Given the description of an element on the screen output the (x, y) to click on. 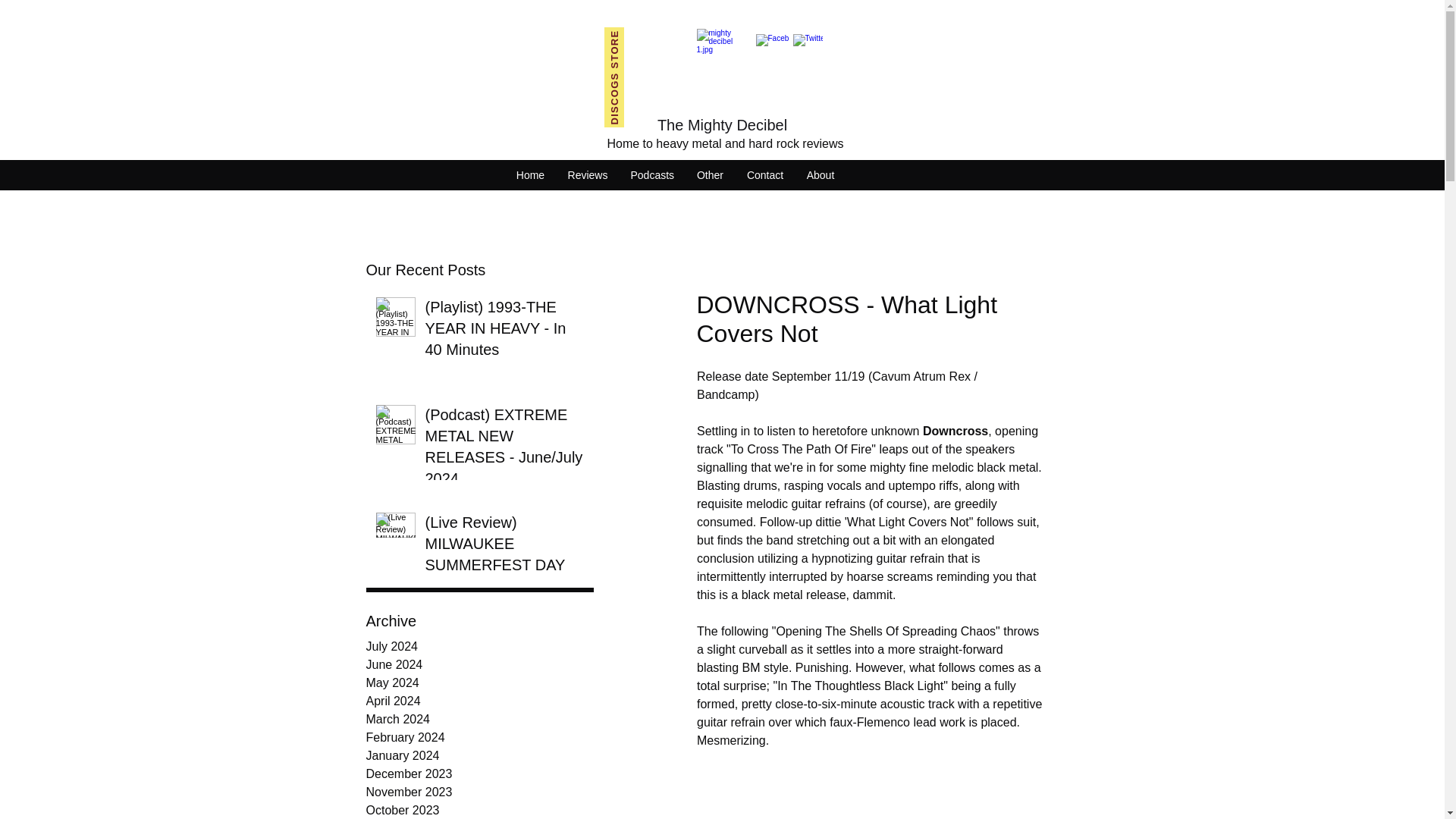
DISCOGS STORE (653, 36)
The Mighty Decibel (722, 125)
February 2024 (478, 737)
About (819, 174)
April 2024 (478, 701)
Home (530, 174)
Reviews (588, 174)
January 2024 (478, 755)
Podcasts (651, 174)
May 2024 (478, 683)
November 2023 (478, 791)
December 2023 (478, 773)
July 2024 (478, 647)
June 2024 (478, 665)
Other (710, 174)
